Given the description of an element on the screen output the (x, y) to click on. 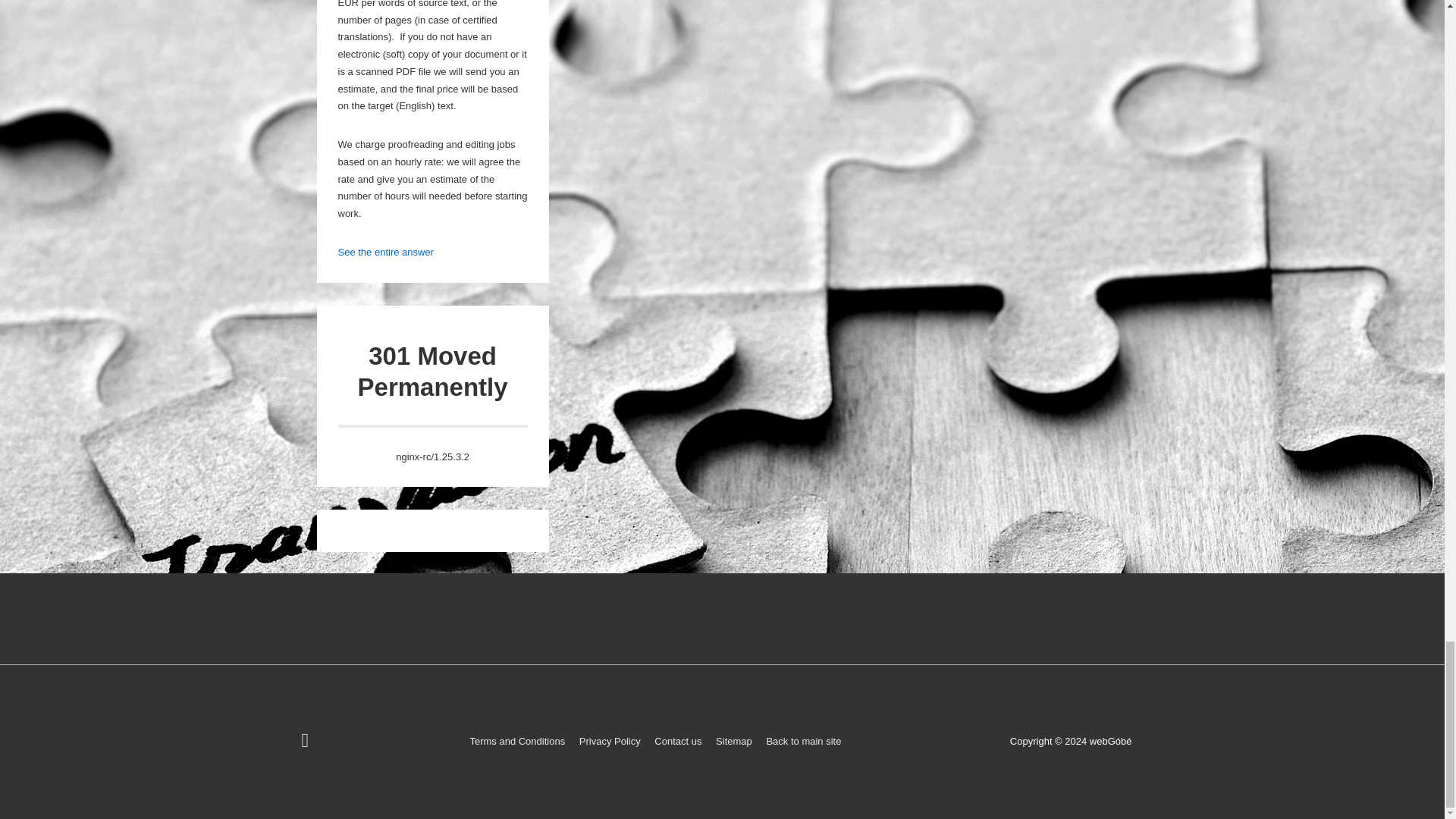
Terms and Conditions (516, 740)
Back to main site (803, 740)
Contact us (677, 740)
See the entire answer (385, 251)
Privacy Policy (609, 740)
Sitemap (734, 740)
facebook (307, 743)
